Given the description of an element on the screen output the (x, y) to click on. 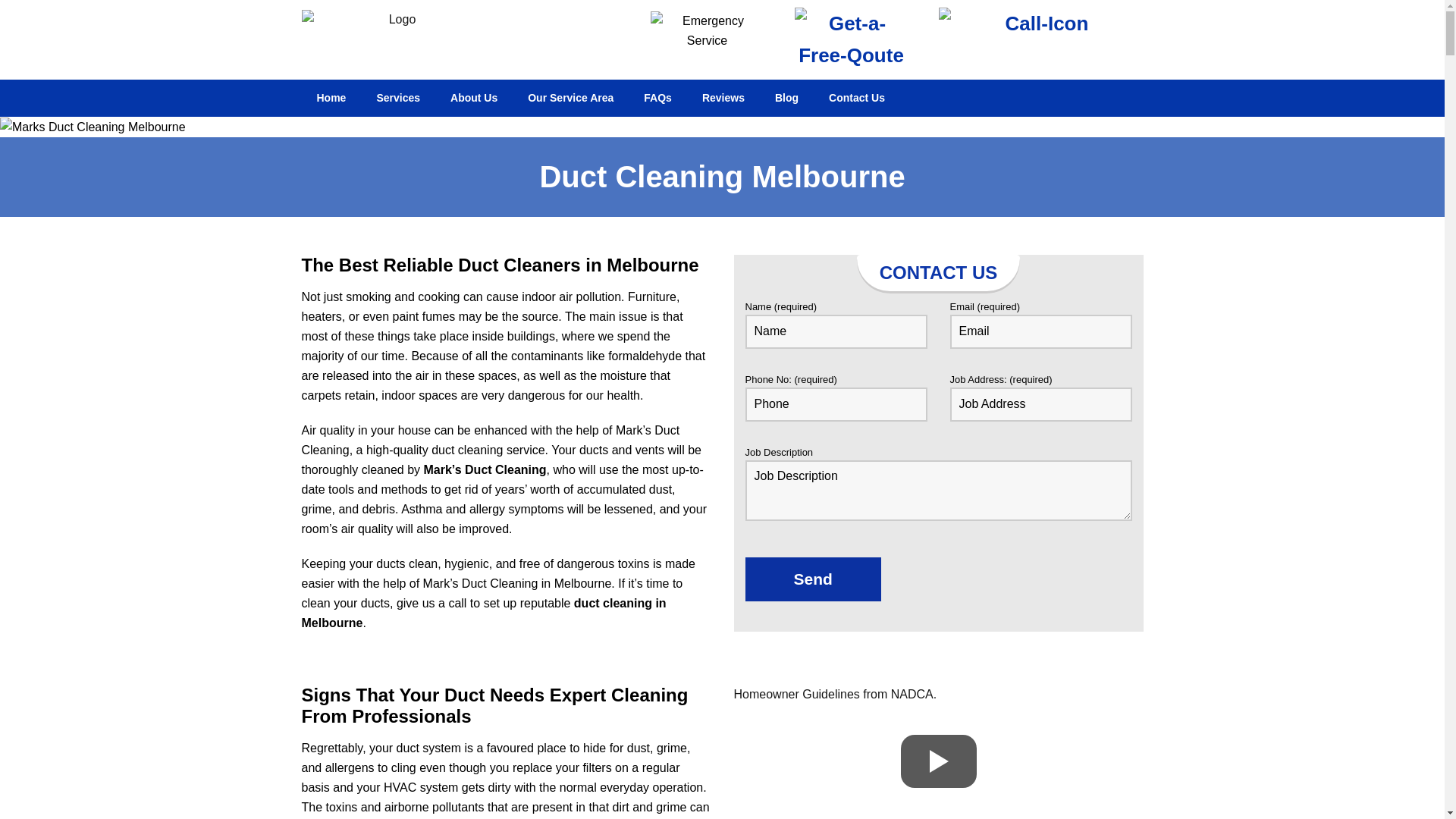
Our Service Area Element type: text (570, 98)
Home Element type: text (331, 98)
Homeowner Guidelines from NADCA.  Element type: text (837, 693)
Services Element type: text (398, 98)
YouTube video player Element type: hover (938, 761)
Contact Us Element type: text (856, 98)
Send Element type: text (812, 579)
Blog Element type: text (786, 98)
About Us Element type: text (473, 98)
Reviews Element type: text (723, 98)
FAQs Element type: text (657, 98)
